Given the description of an element on the screen output the (x, y) to click on. 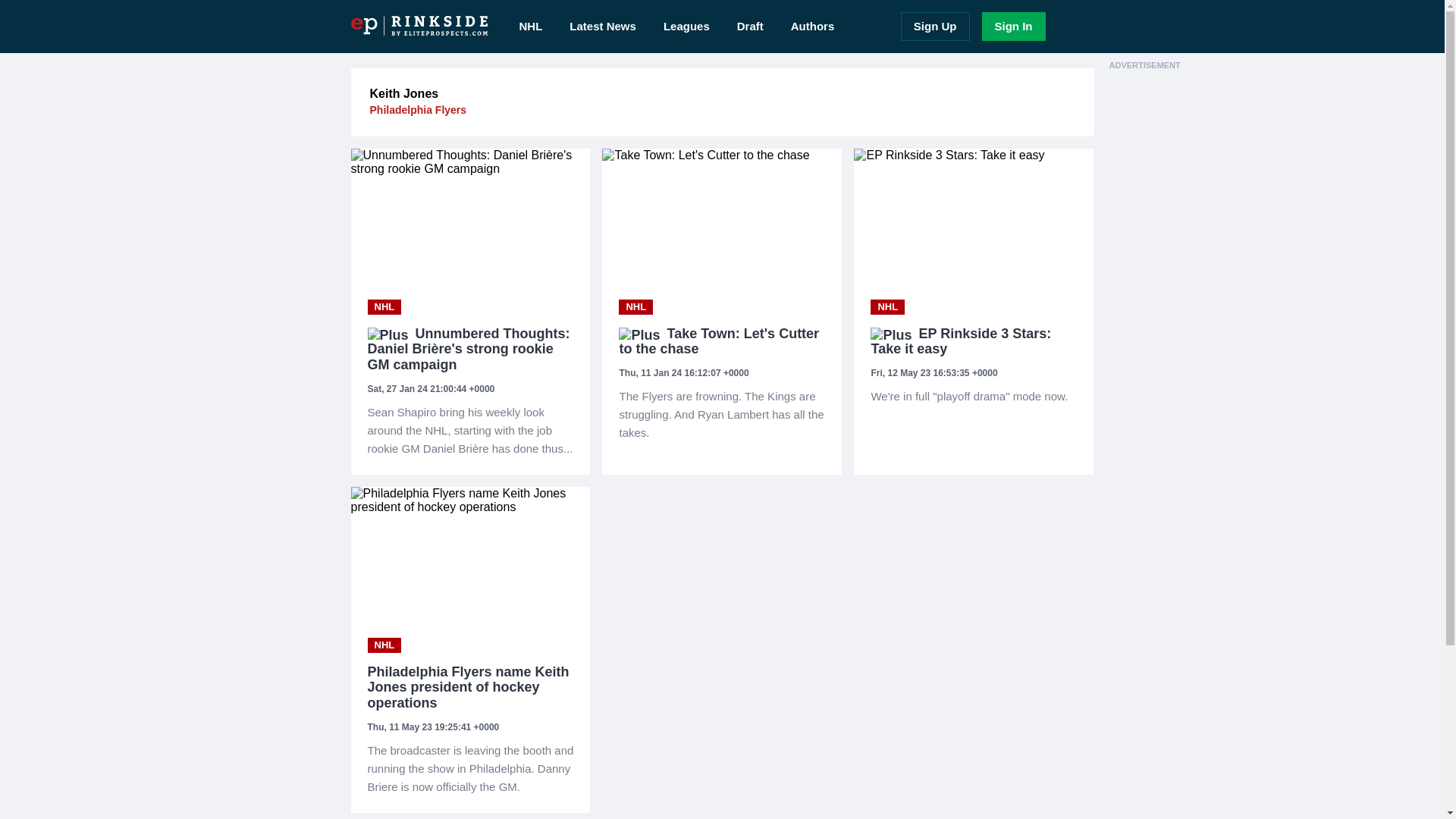
NHL (635, 306)
NHL (383, 306)
Take Town: Let's Cutter to the chase (721, 341)
Latest News (602, 26)
NHL (635, 306)
NHL (383, 306)
Authors (812, 26)
NHL (383, 645)
